Given the description of an element on the screen output the (x, y) to click on. 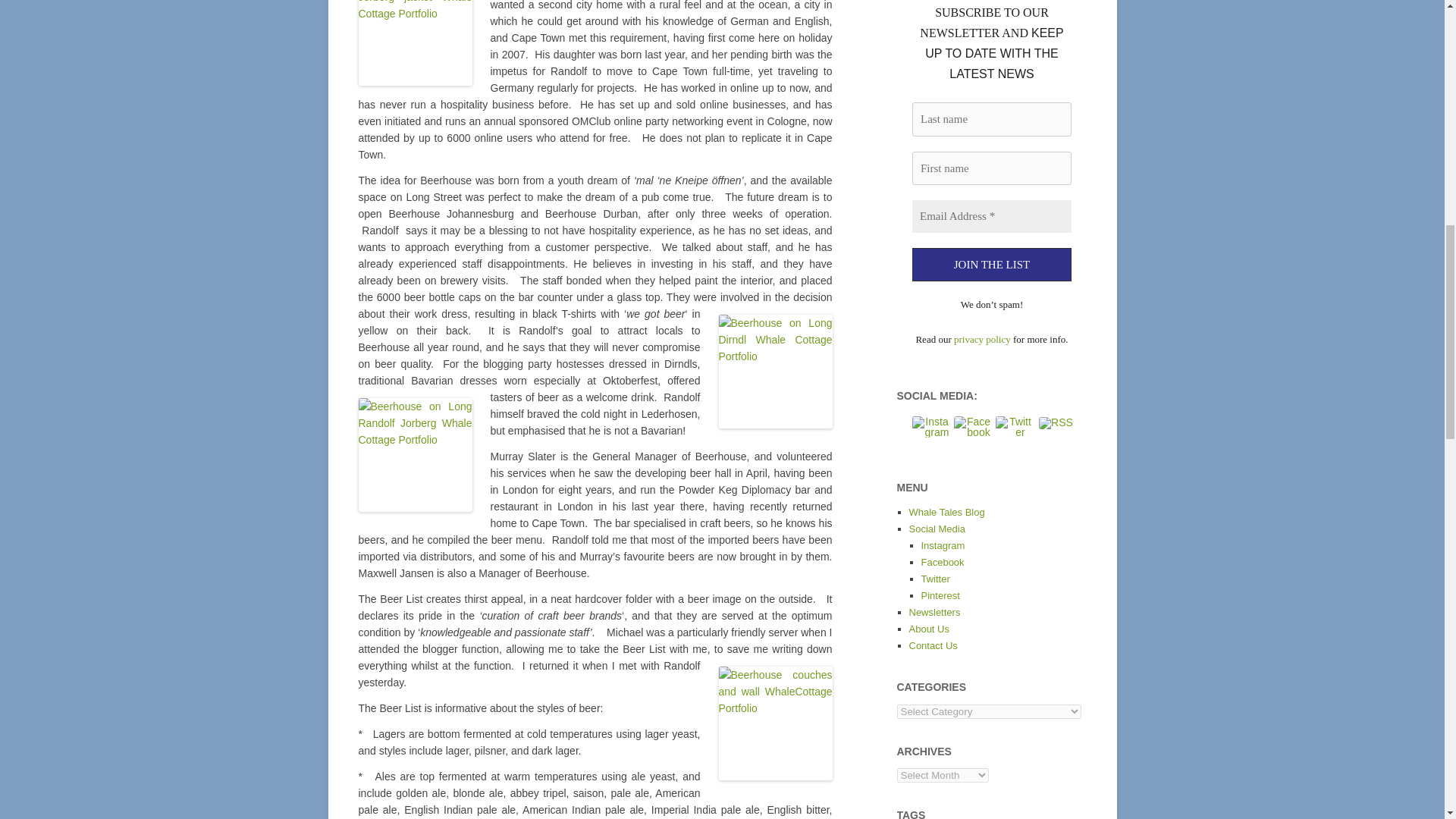
JOIN THE LIST (990, 264)
Facebook (972, 426)
Email Address (990, 215)
Twitter (1013, 426)
First name (990, 168)
Instagram (930, 426)
Last name (990, 119)
